Given the description of an element on the screen output the (x, y) to click on. 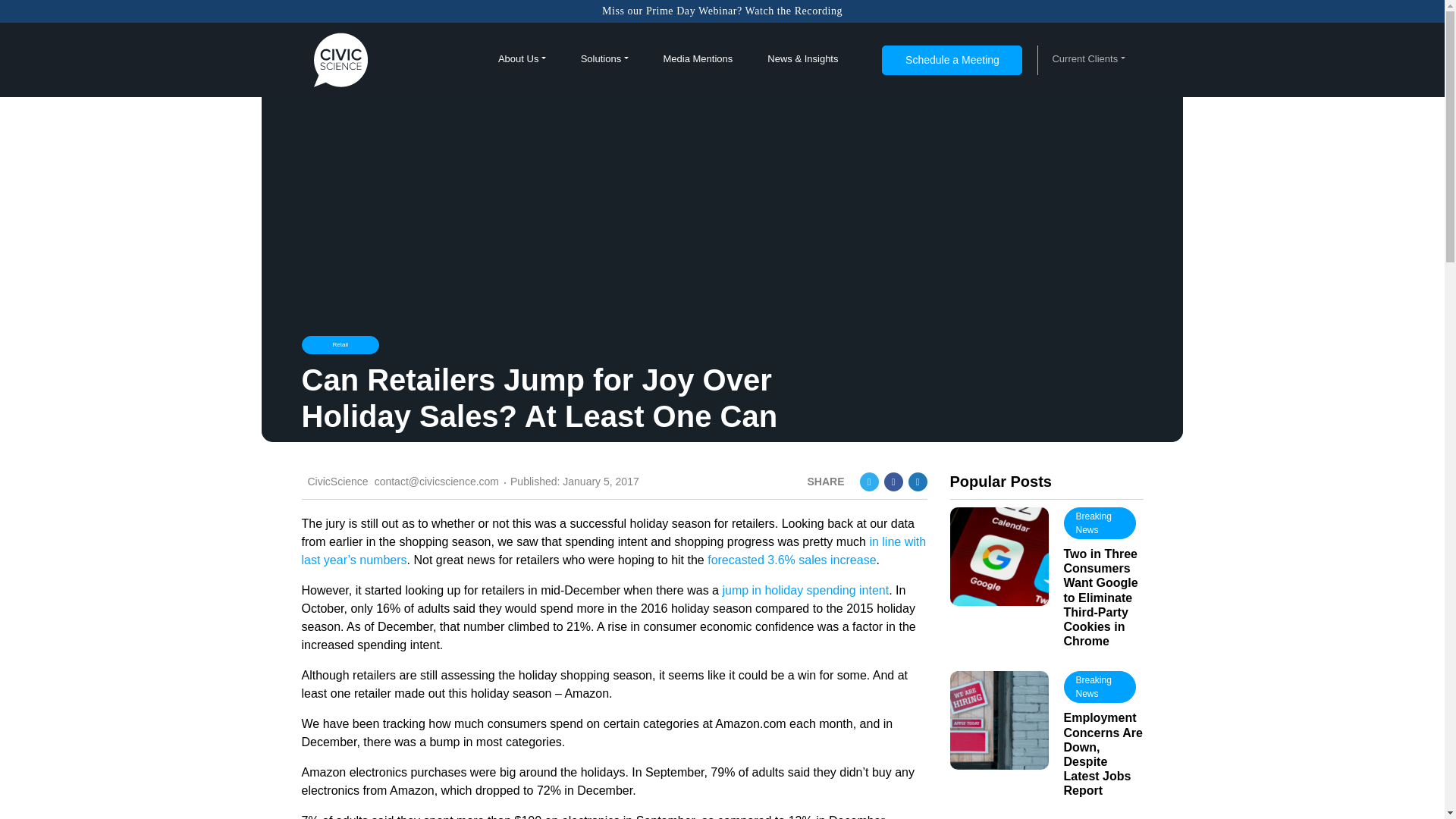
Breaking News (1098, 522)
Media Mentions (697, 58)
About Us (521, 58)
Solutions (604, 58)
About Us (521, 58)
Miss our Prime Day Webinar? Watch the Recording (722, 10)
Retail (339, 344)
Current Clients (1088, 58)
Schedule a Meeting (952, 60)
Breaking News (1098, 686)
